Given the description of an element on the screen output the (x, y) to click on. 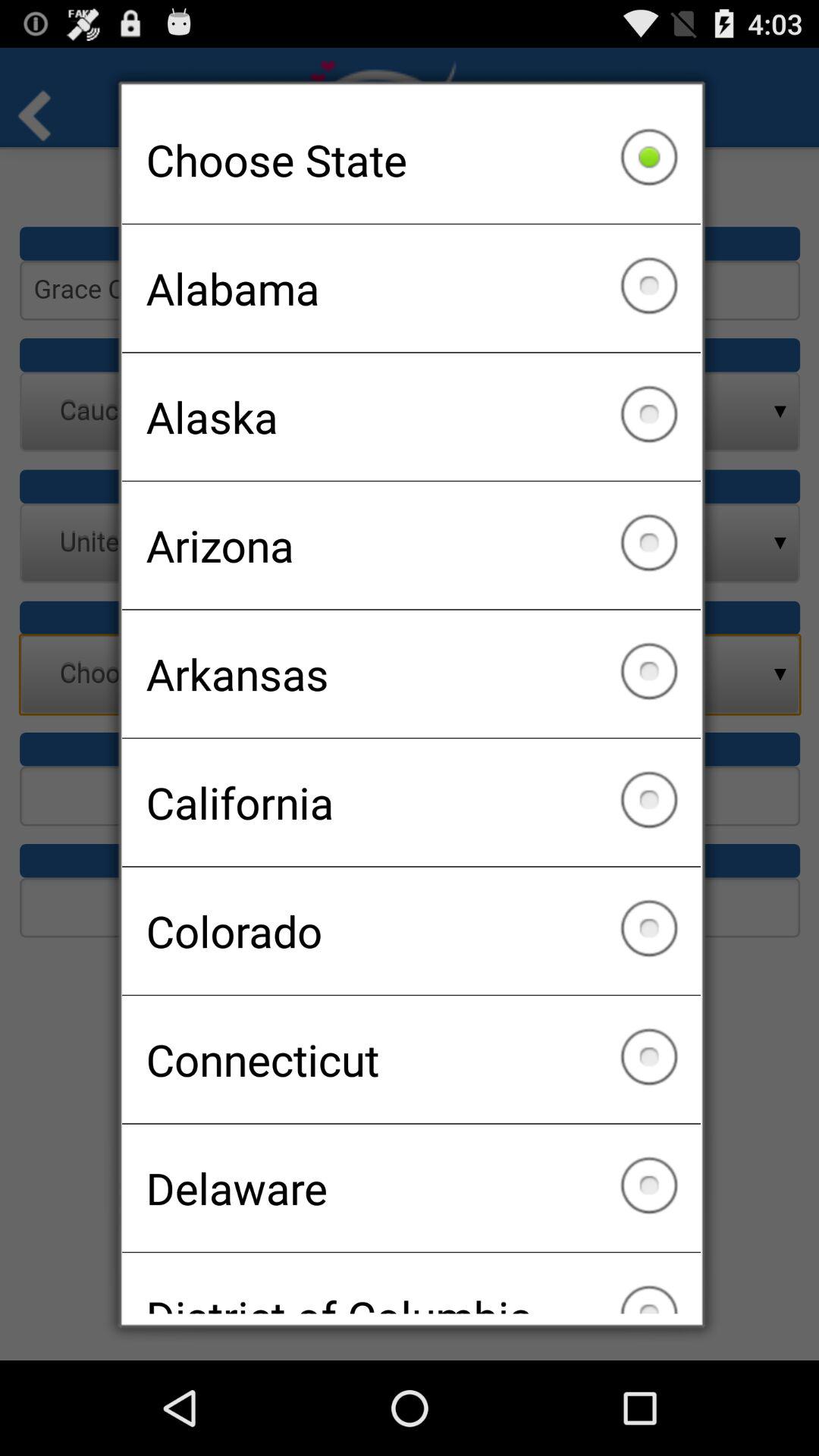
flip until arkansas checkbox (411, 673)
